Given the description of an element on the screen output the (x, y) to click on. 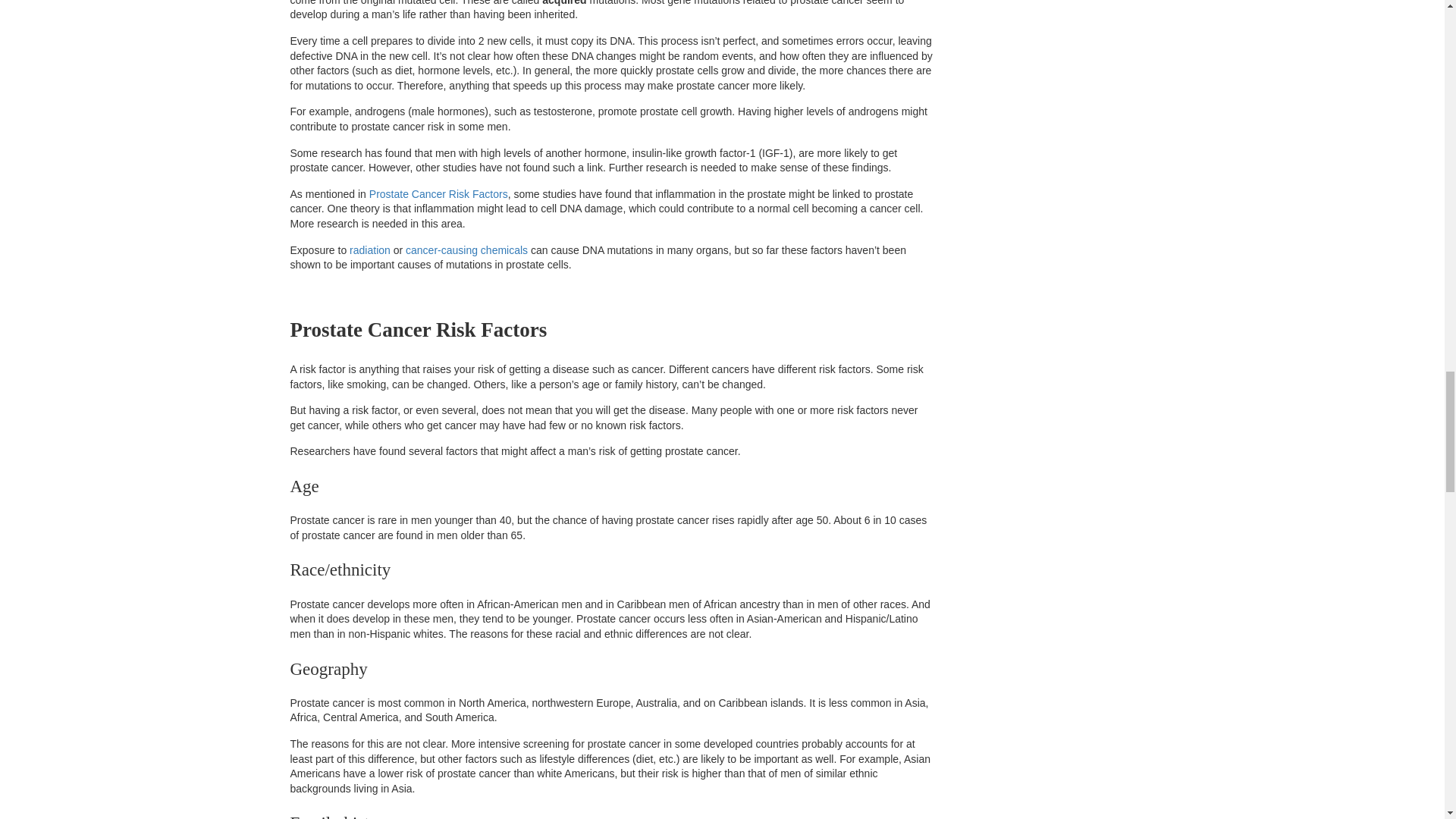
Prostate Cancer Risk Factors (438, 193)
cancer-causing chemicals (466, 250)
radiation (369, 250)
